Given the description of an element on the screen output the (x, y) to click on. 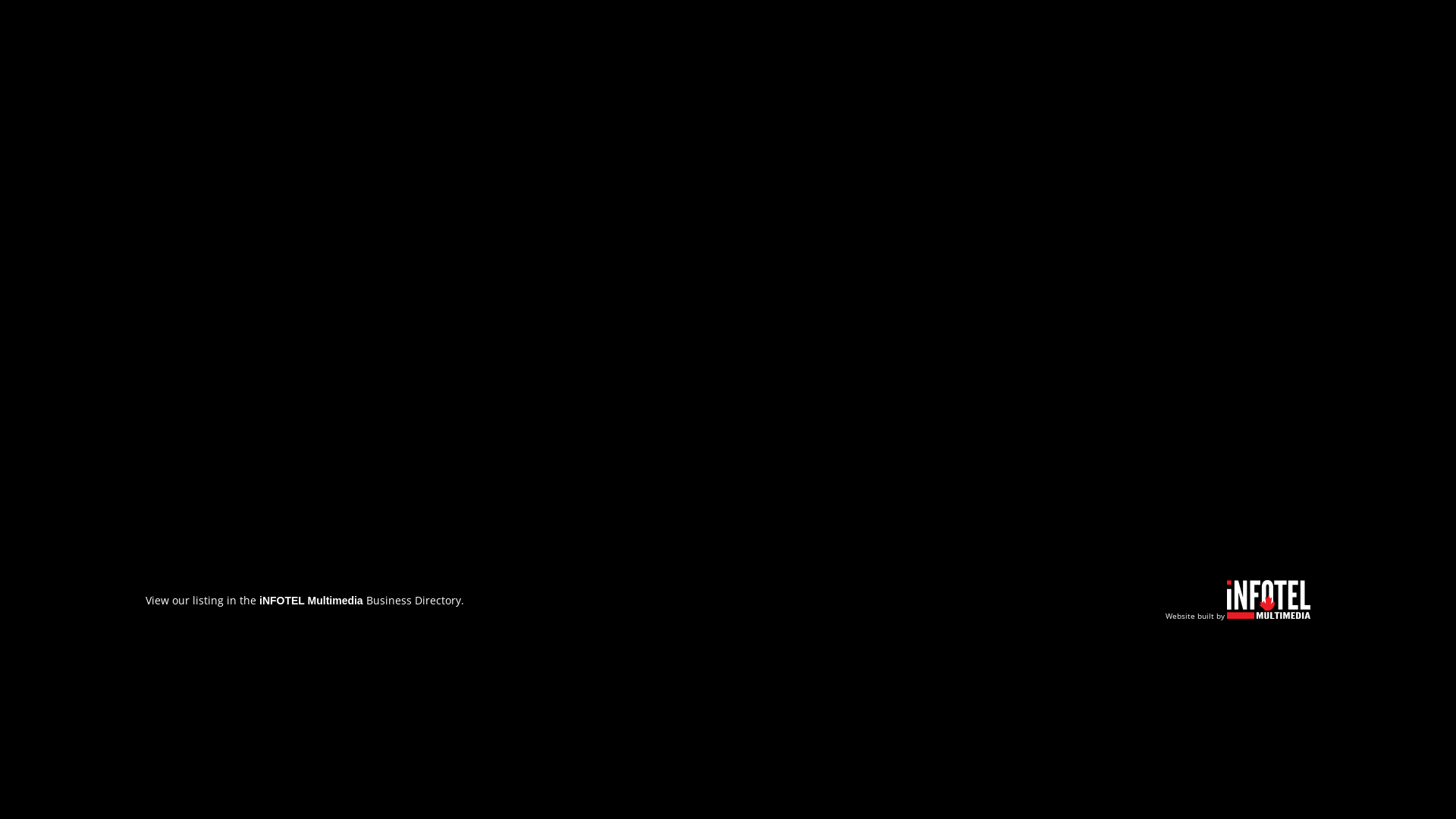
iNFOTEL Multimedia Business Directory Element type: text (360, 600)
Blast from the Past Antiques Element type: text (727, 188)
iNFOTEL Multimedia | Your online business experts Element type: hover (1268, 613)
